Given the description of an element on the screen output the (x, y) to click on. 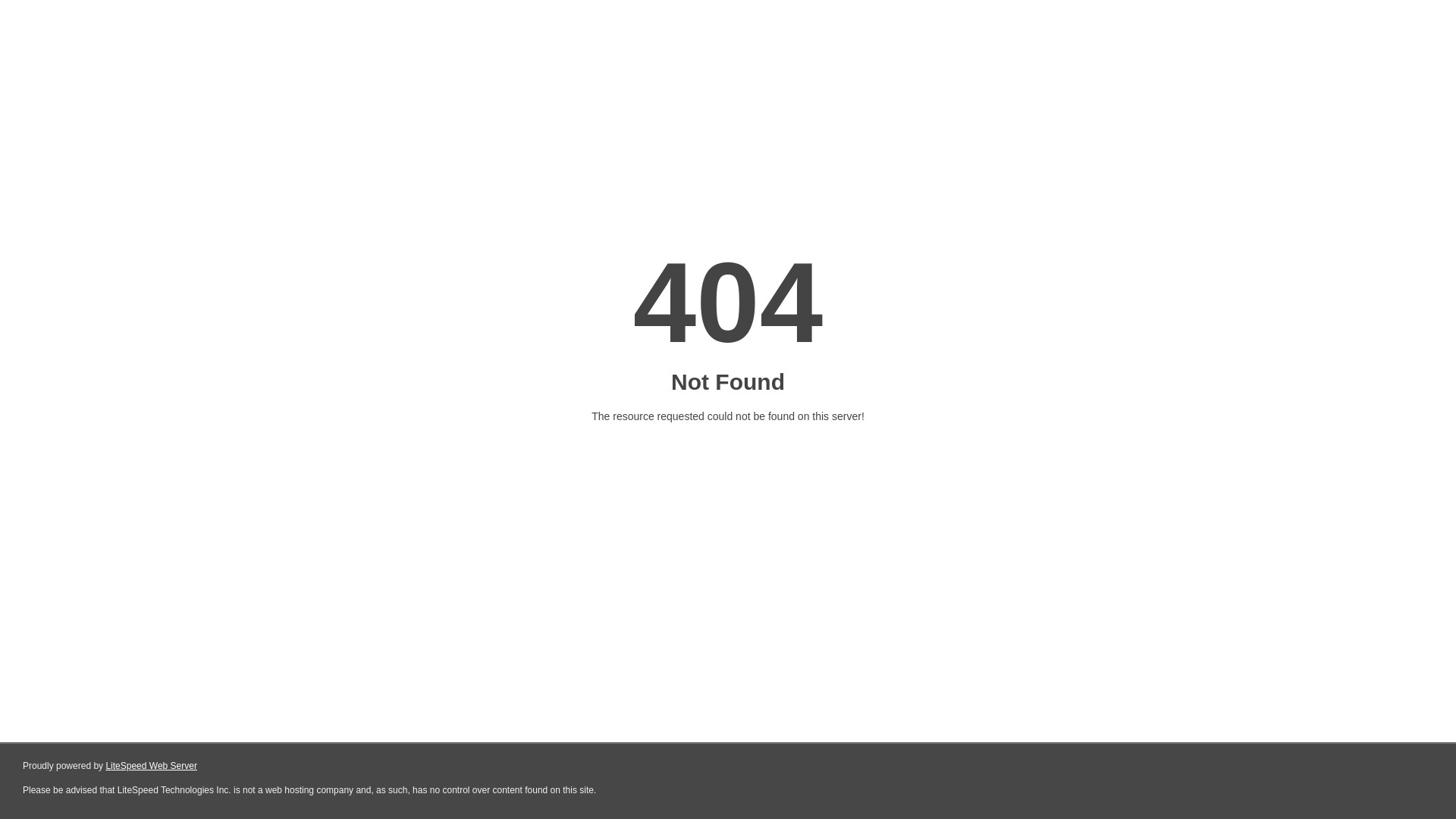
LiteSpeed Web Server Element type: text (151, 765)
